Given the description of an element on the screen output the (x, y) to click on. 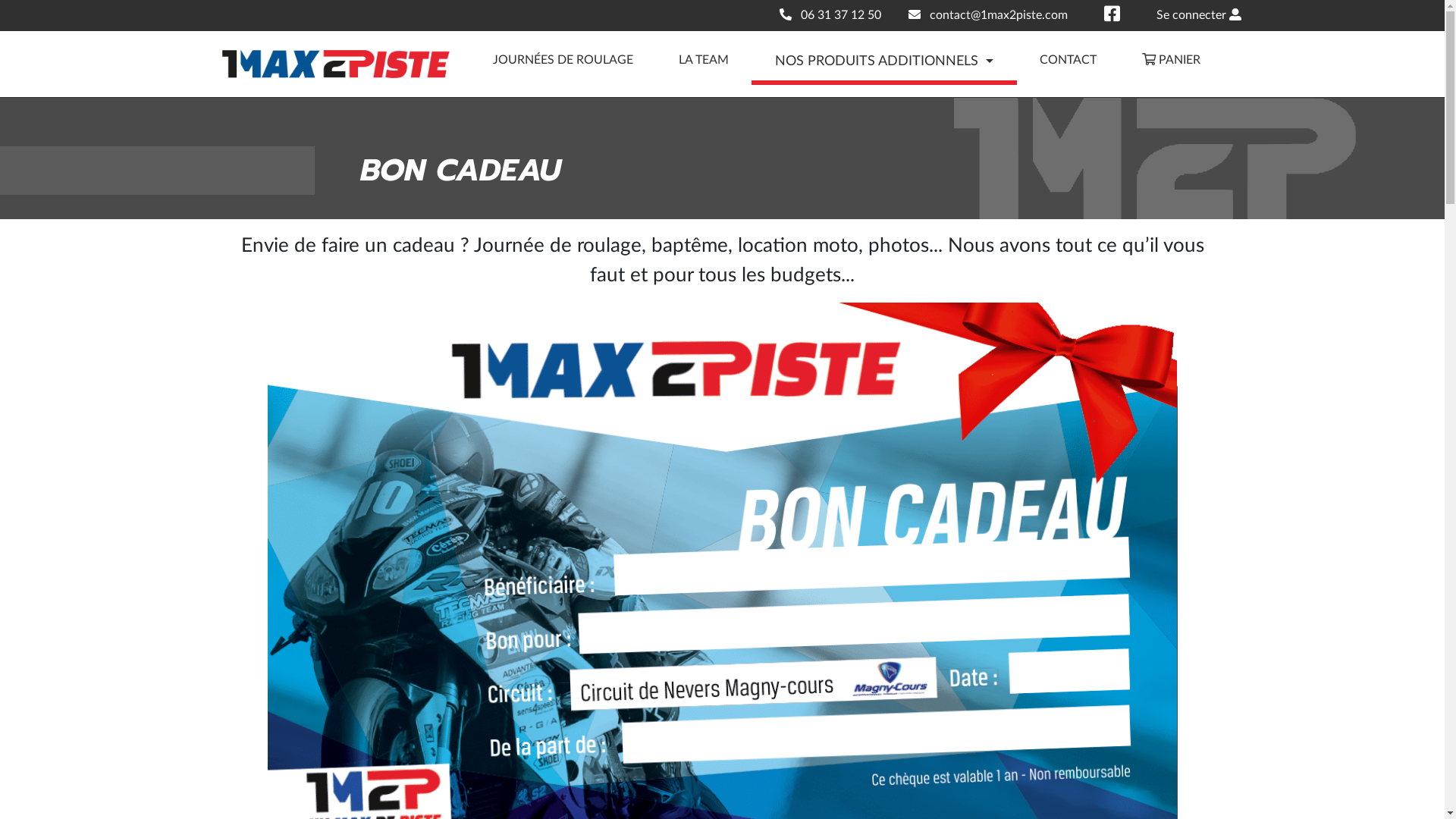
NOS PRODUITS ADDITIONNELS Element type: text (907, 61)
CONTACT Element type: text (1090, 59)
LA TEAM Element type: text (726, 59)
PANIER Element type: text (1193, 59)
Se connecter Element type: text (1197, 15)
